Given the description of an element on the screen output the (x, y) to click on. 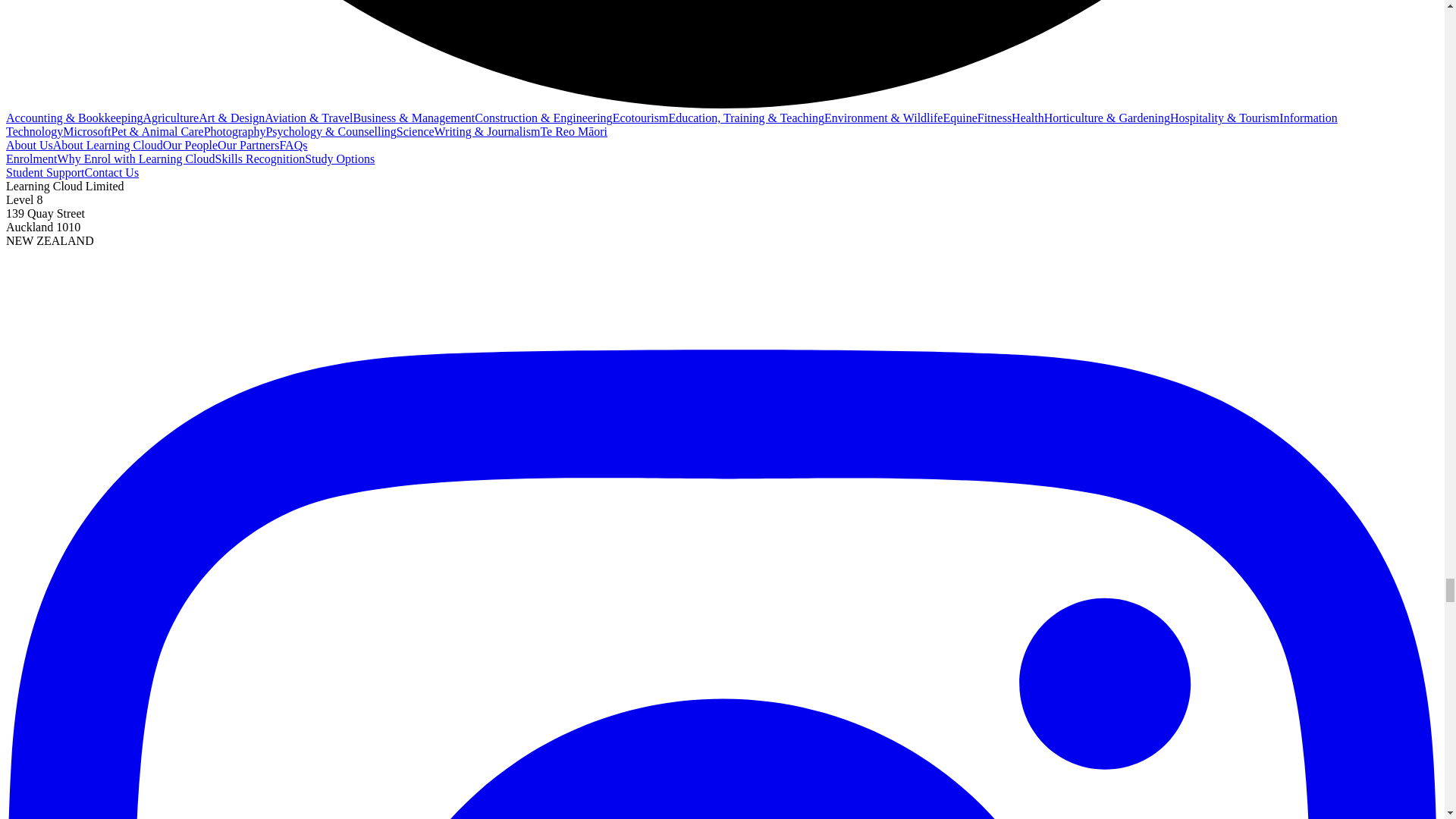
Equine (959, 117)
Agriculture (170, 117)
Health (1027, 117)
Ecotourism (640, 117)
Fitness (993, 117)
Photography (234, 131)
Information Technology (671, 124)
Microsoft (86, 131)
